Given the description of an element on the screen output the (x, y) to click on. 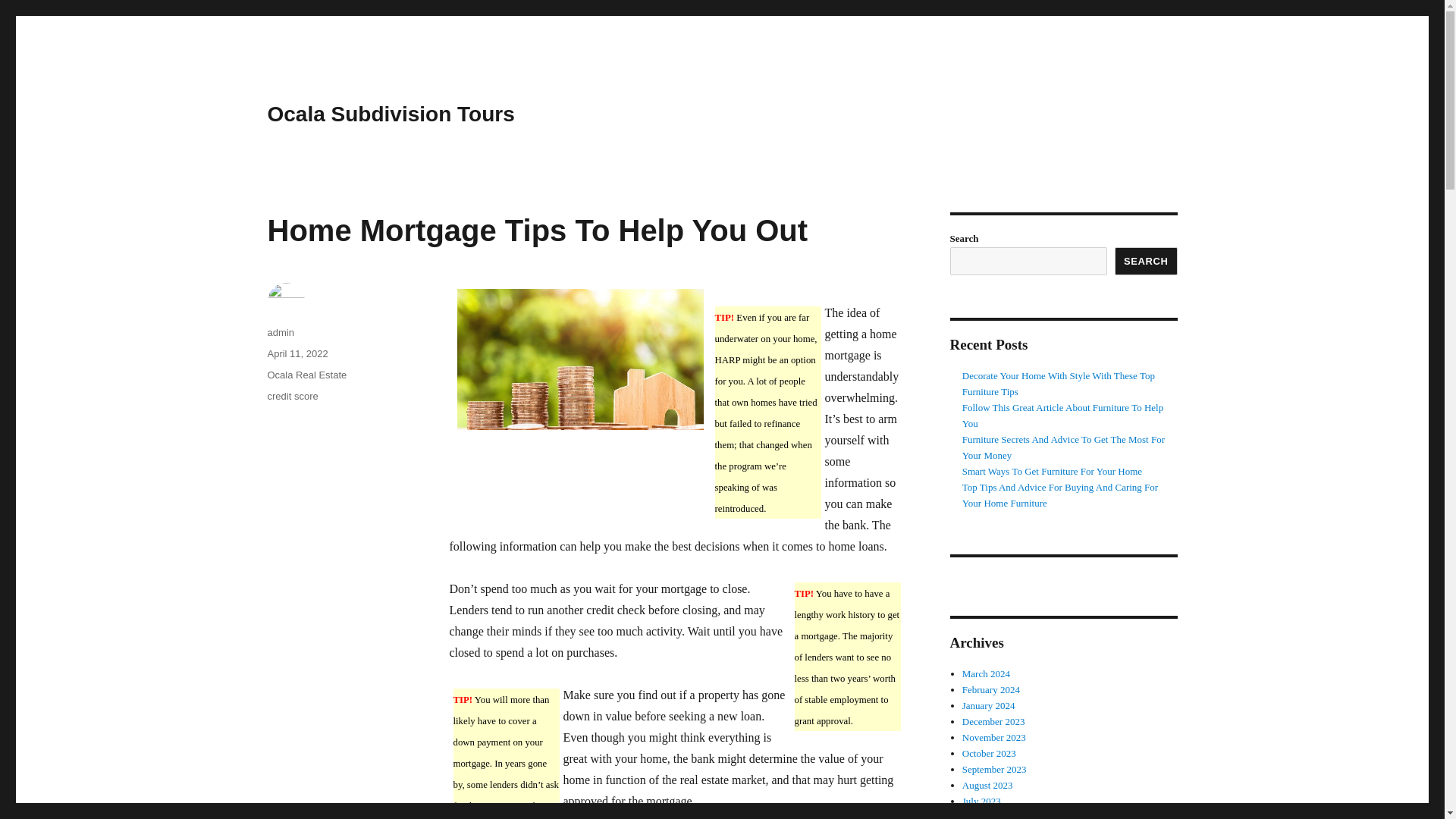
Furniture Secrets And Advice To Get The Most For Your Money (1063, 447)
September 2023 (994, 768)
Ocala Subdivision Tours (389, 114)
Smart Ways To Get Furniture For Your Home (1051, 471)
March 2024 (986, 673)
November 2023 (994, 737)
April 11, 2022 (296, 353)
SEARCH (1146, 261)
credit score (291, 396)
Ocala Real Estate (306, 374)
July 2023 (981, 800)
August 2023 (987, 785)
admin (280, 332)
December 2023 (993, 721)
